Given the description of an element on the screen output the (x, y) to click on. 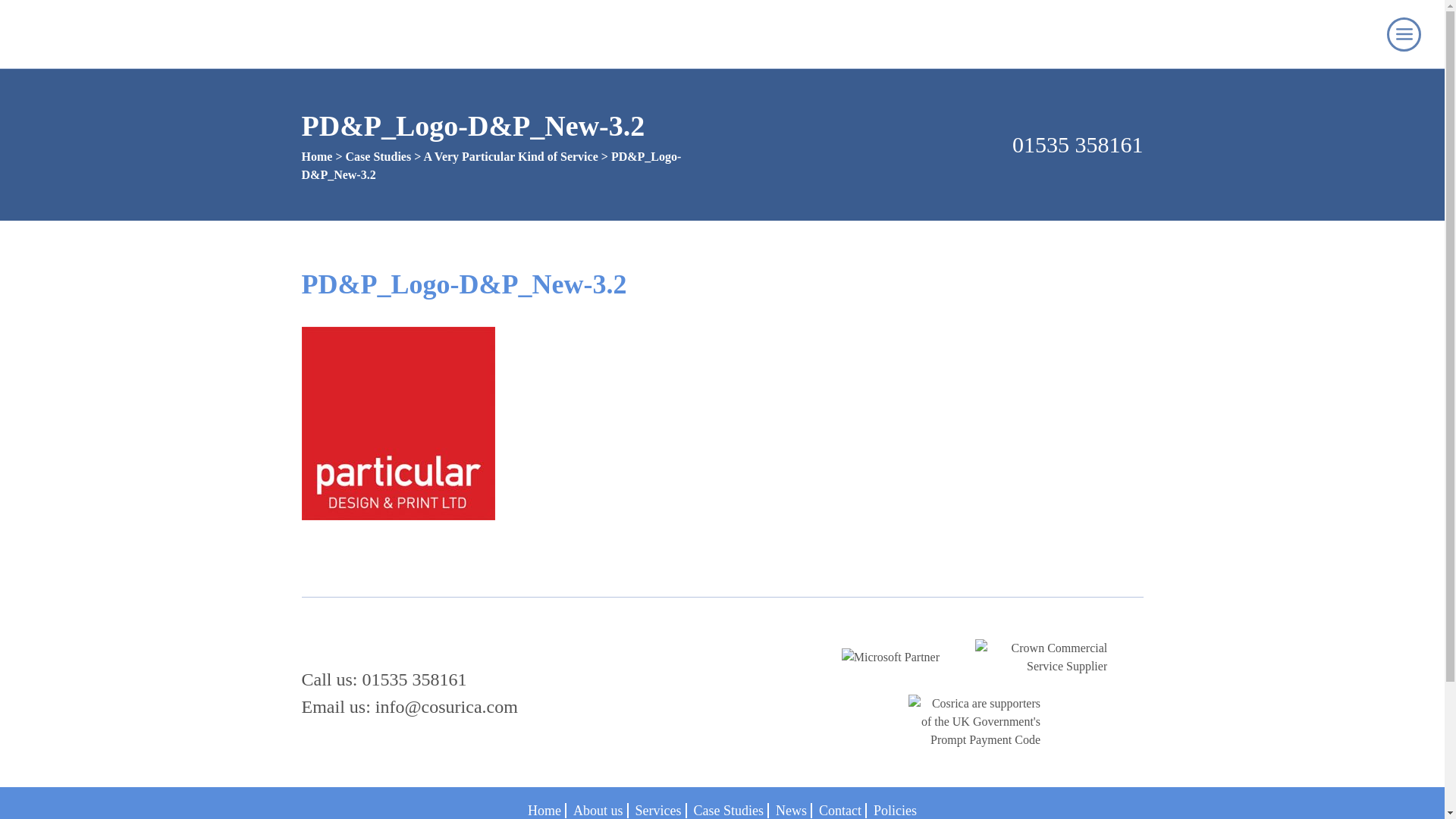
Twitter (1360, 34)
Twitter (702, 638)
LinkedIn (1331, 34)
Case Studies (379, 155)
Cosurica (86, 33)
Home (317, 155)
Twitter (1360, 34)
LinkedIn (1331, 34)
LinkedIn (670, 638)
Cosurica (364, 643)
A Very Particular Kind of Service (509, 155)
01535 358161 (937, 144)
